Given the description of an element on the screen output the (x, y) to click on. 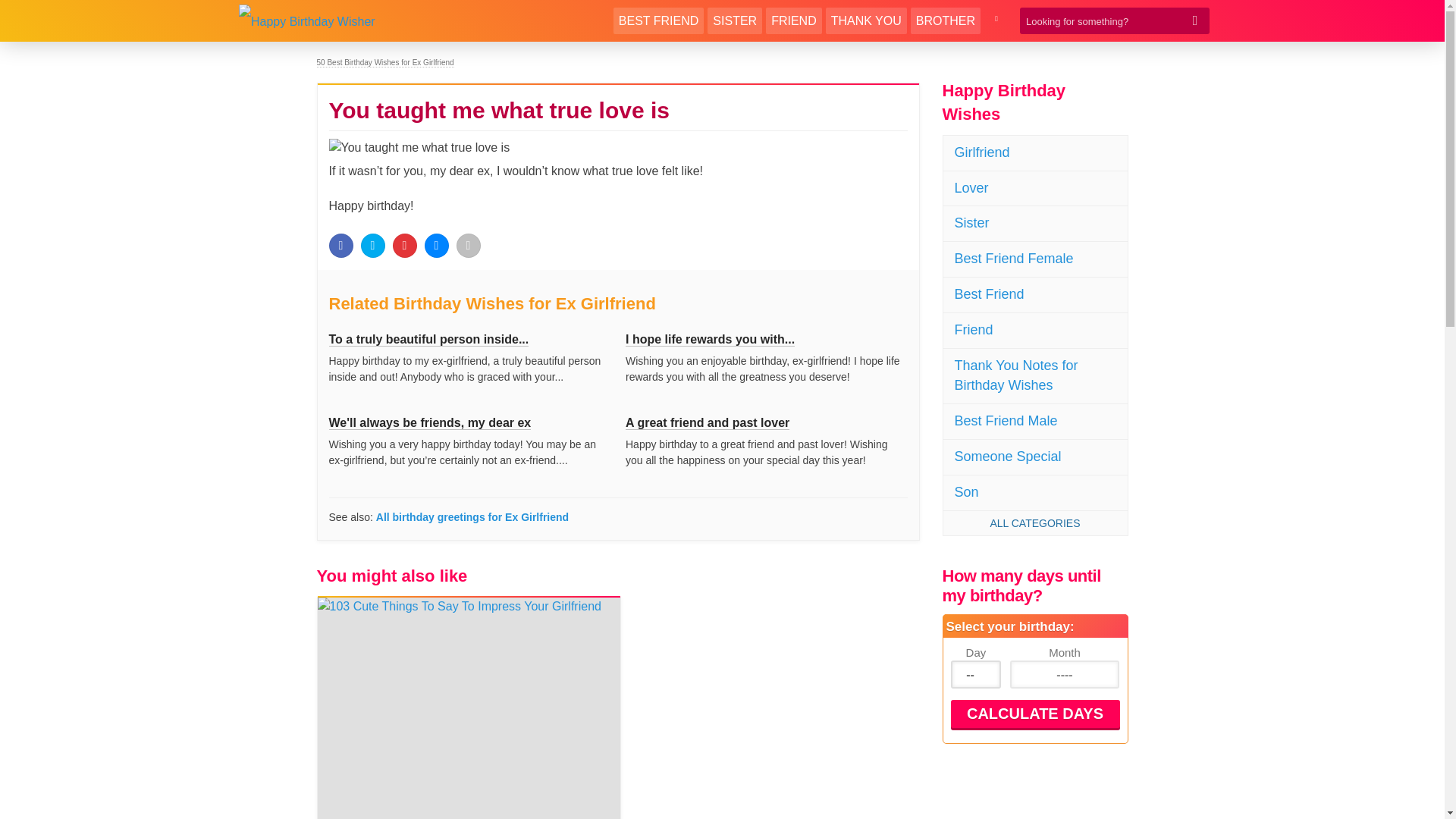
BEST FRIEND (658, 20)
I hope life rewards you with... (710, 339)
Email (468, 245)
SISTER (734, 20)
A great friend and past lover (707, 422)
THANK YOU (866, 20)
FRIEND (793, 20)
Tweetar (373, 245)
To a truly beautiful person inside... (429, 339)
50 Best Birthday Wishes for Ex Girlfriend (385, 62)
BROTHER (945, 20)
All birthday greetings for Ex Girlfriend (472, 517)
103 Cute Things To Say To Impress Your Girlfriend (468, 708)
We'll always be friends, my dear ex (430, 422)
Calculate Days (1034, 714)
